Given the description of an element on the screen output the (x, y) to click on. 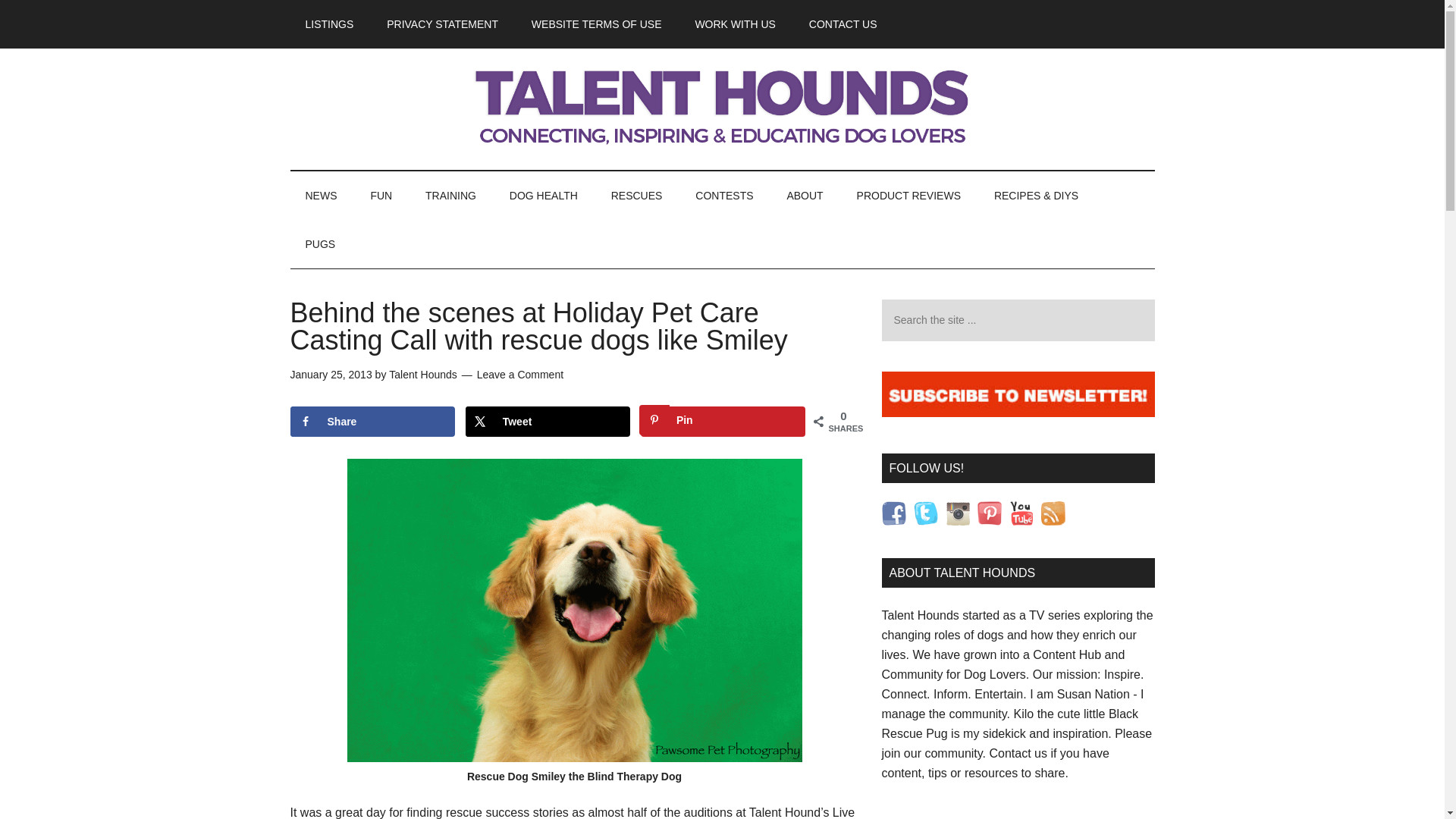
WEBSITE TERMS OF USE (596, 24)
NEWS (320, 195)
Facebook (892, 513)
CONTACT US (842, 24)
WORK WITH US (734, 24)
Join Talent Hounds Now! (721, 159)
Follow Us on RSS (1077, 564)
Share on X (547, 421)
PRIVACY STATEMENT (442, 24)
